Given the description of an element on the screen output the (x, y) to click on. 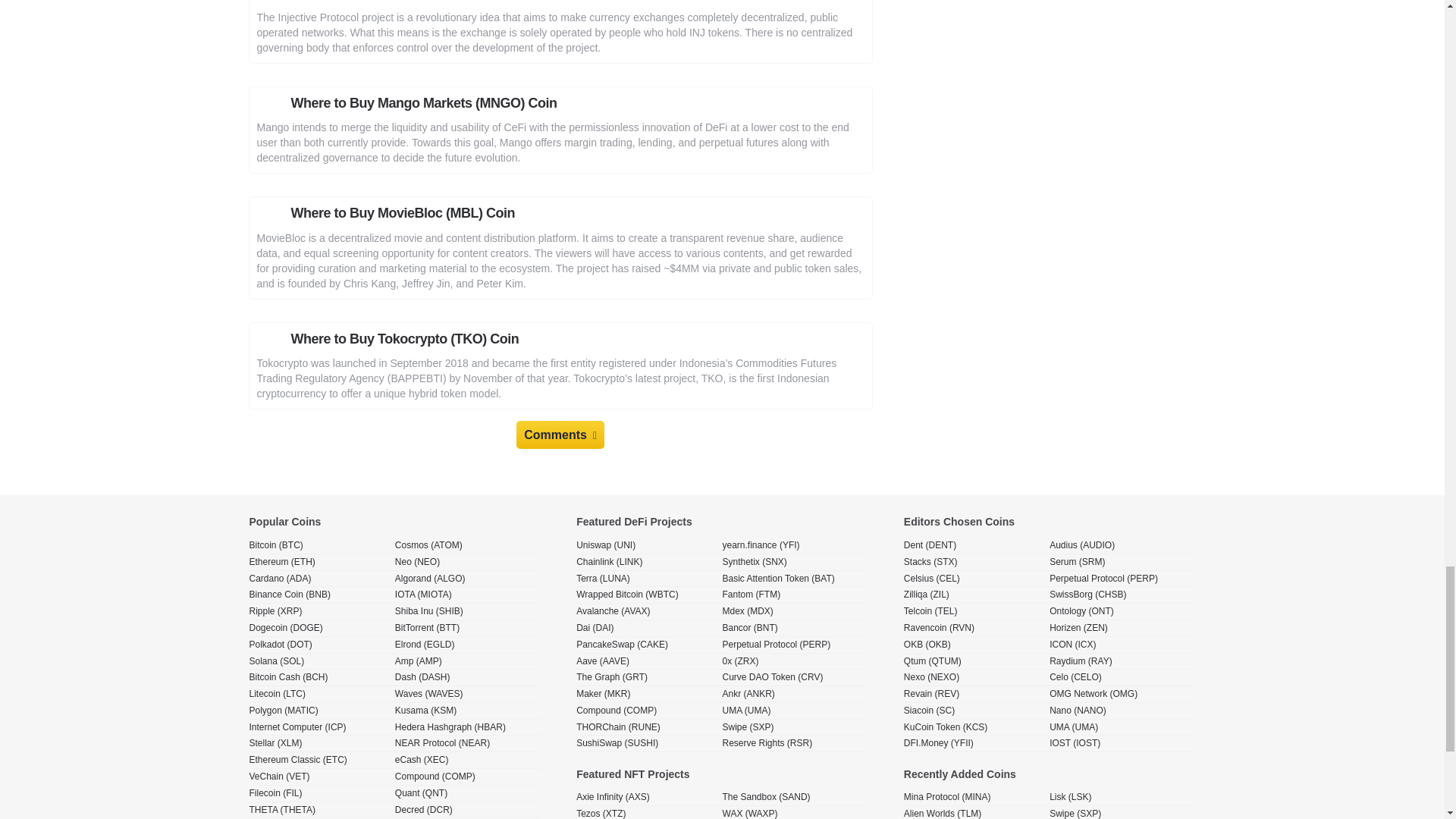
Where to Buy Tron Coin (274, 818)
Where to Buy Xrp Coin (274, 611)
Where to Buy Ethereum (281, 562)
Where to Buy Xlm Coin (274, 743)
Where to Buy Cardano (279, 578)
Where to Buy Dot Coin (279, 644)
Where to Buy Ethereum Classic (297, 760)
Where to Buy Bch Coin (287, 677)
Where to Buy Icp Coin (297, 727)
Where to Buy Litecoin (276, 693)
Where to buy Bitcoin (275, 545)
Where to Buy Sol Coin (276, 661)
Where to Buy Theta Coin (281, 810)
Where to Buy Bnb Coin (289, 594)
Where to Buy Vet Coin (278, 776)
